Given the description of an element on the screen output the (x, y) to click on. 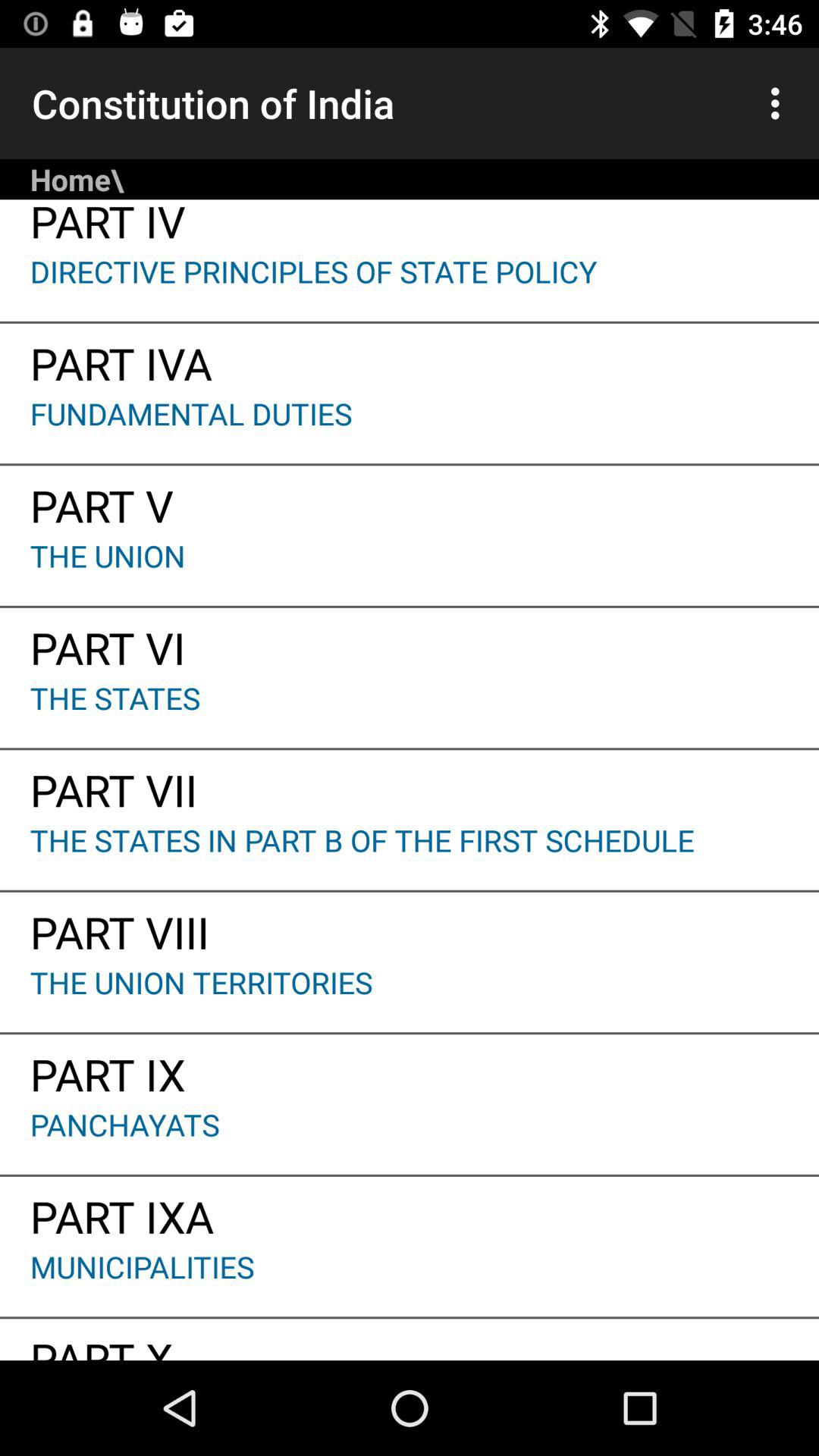
launch the icon below the directive principles of icon (409, 358)
